Given the description of an element on the screen output the (x, y) to click on. 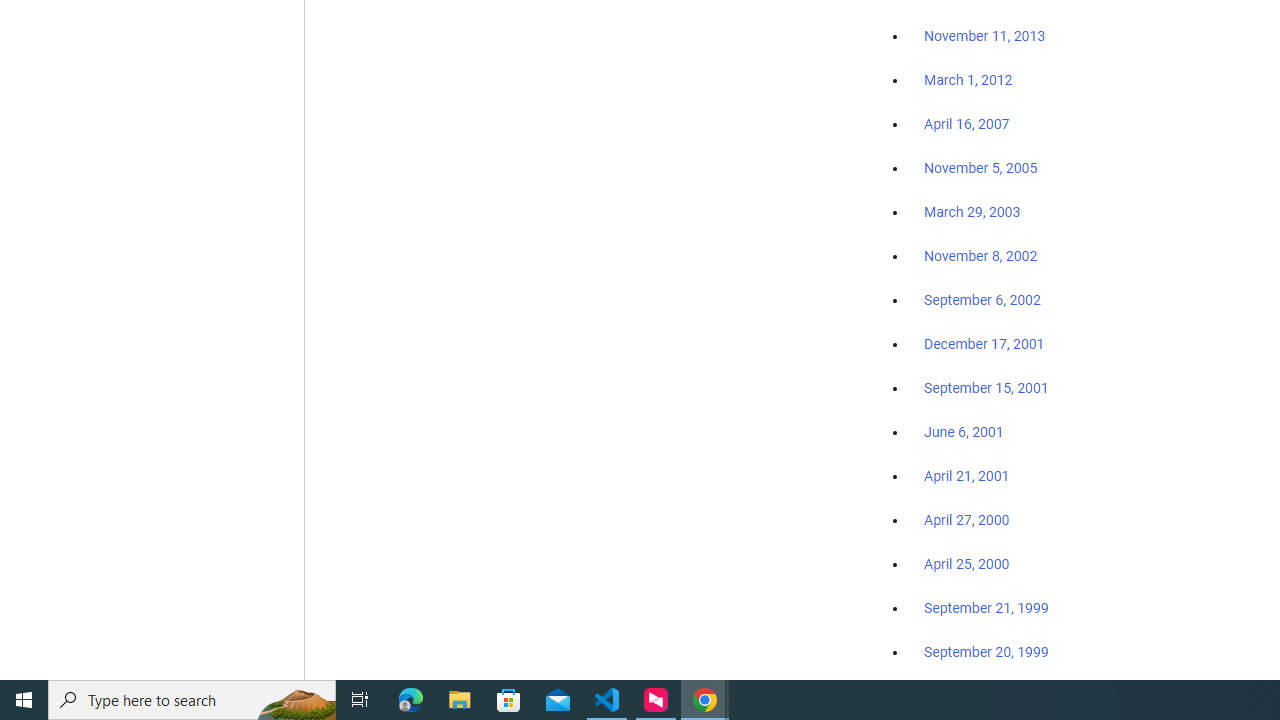
April 27, 2000 (966, 520)
December 17, 2001 (984, 343)
September 15, 2001 (986, 387)
November 8, 2002 (981, 255)
March 29, 2003 (972, 212)
September 21, 1999 (986, 608)
November 5, 2005 (981, 168)
September 6, 2002 (982, 299)
March 1, 2012 (968, 81)
September 20, 1999 (986, 651)
April 25, 2000 (966, 564)
November 11, 2013 (984, 37)
April 21, 2001 (966, 476)
April 16, 2007 (966, 124)
June 6, 2001 (963, 431)
